Given the description of an element on the screen output the (x, y) to click on. 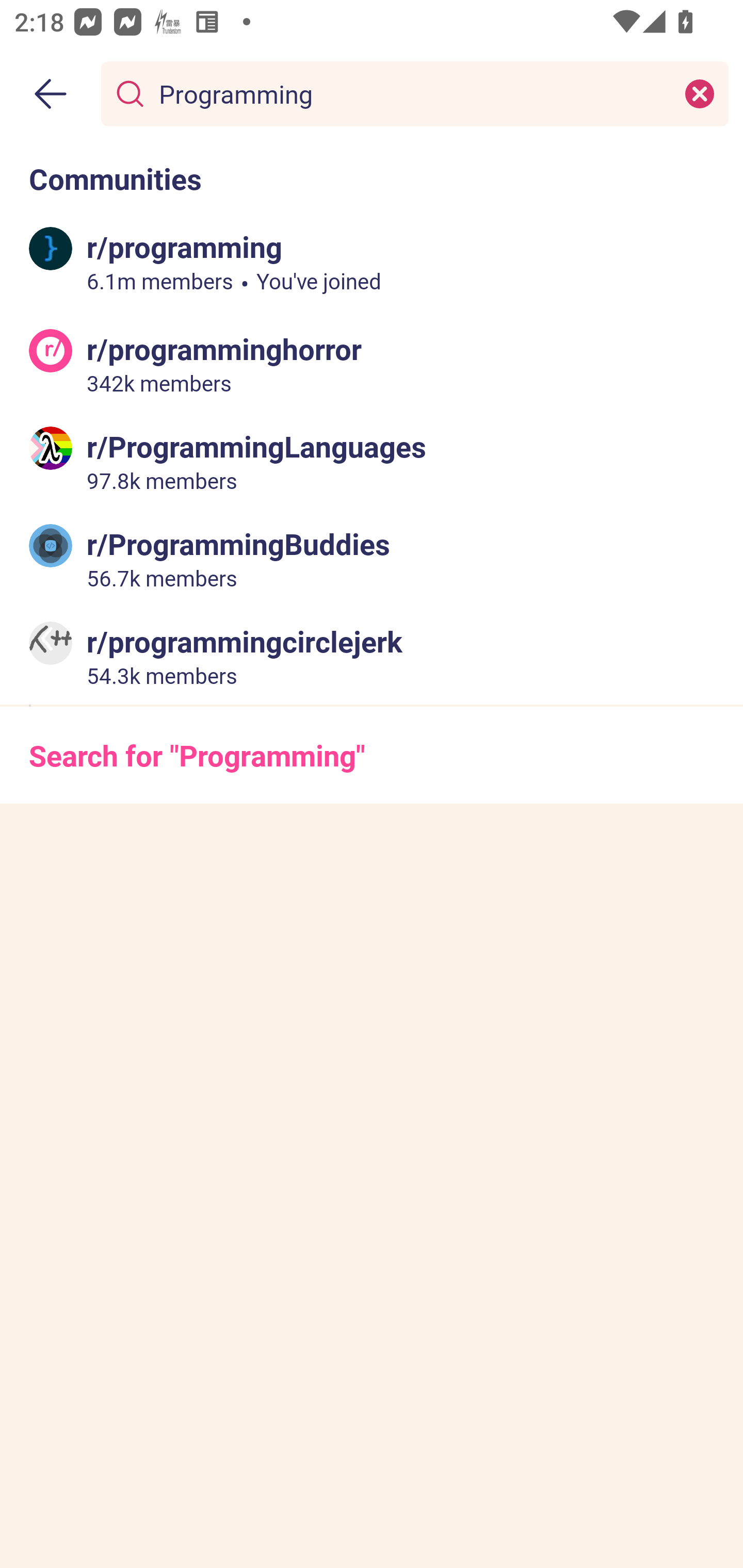
Back (50, 93)
Programming (410, 93)
Clear search (699, 93)
Search for "Programming" (371, 754)
